Given the description of an element on the screen output the (x, y) to click on. 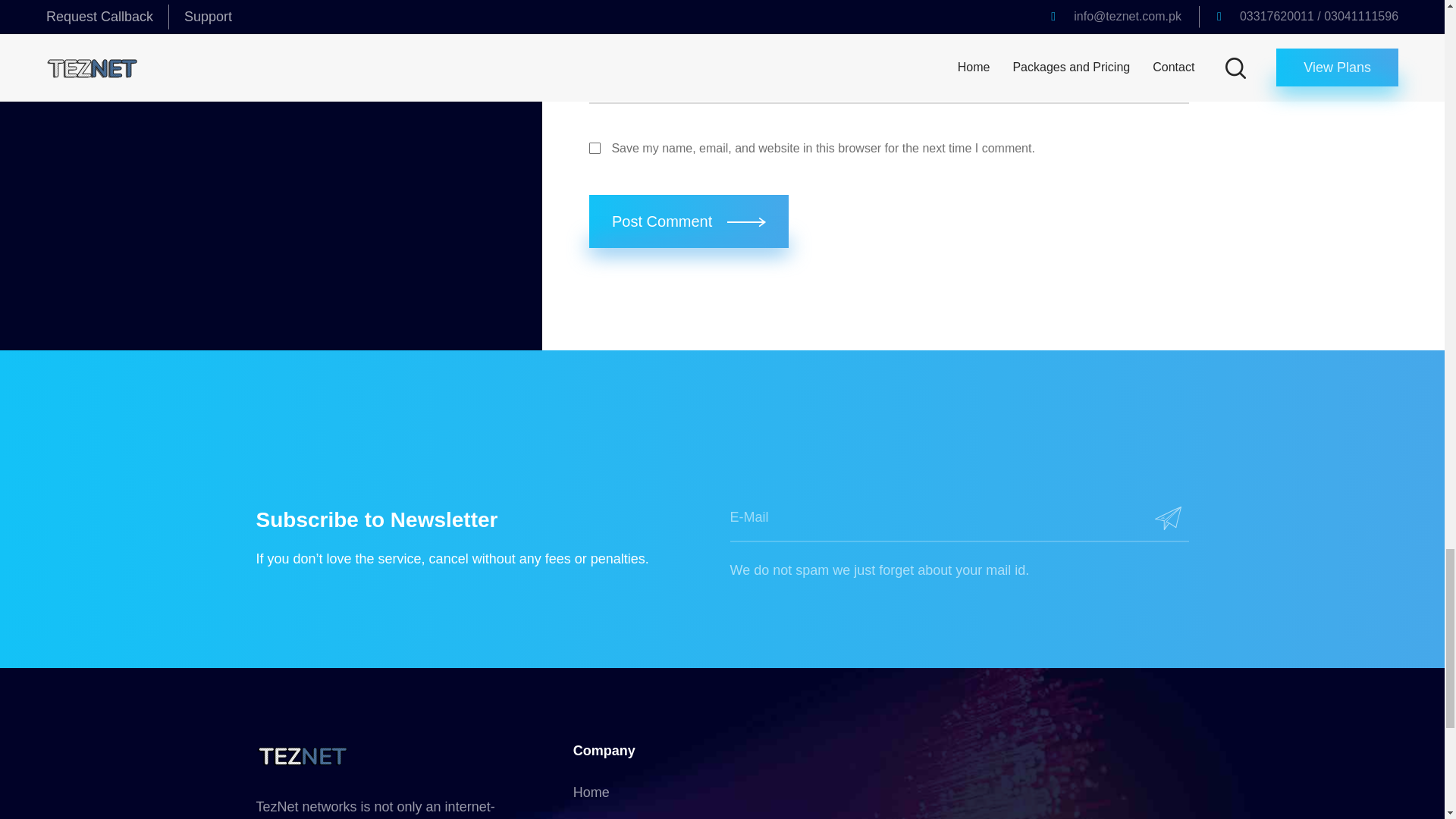
Post Comment (689, 221)
Home (591, 792)
Packages and Pricing (638, 817)
